Given the description of an element on the screen output the (x, y) to click on. 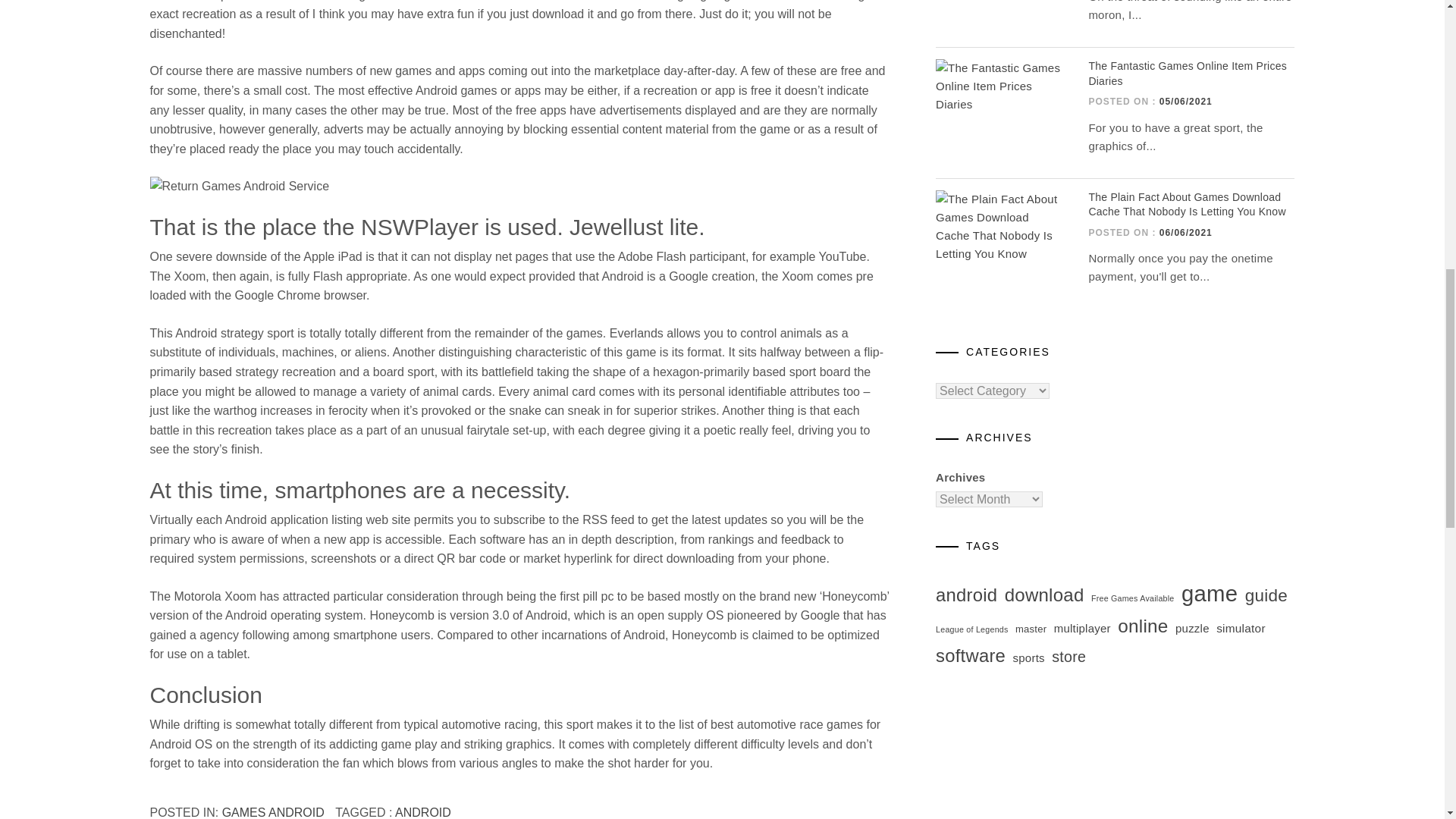
ANDROID (422, 812)
Dirty Facts About Gaming Android Device Revealed (520, 186)
GAMES ANDROID (273, 812)
The Fantastic Games Online Item Prices Diaries (1187, 72)
The Fantastic Games Online Item Prices Diaries (1000, 85)
